Given the description of an element on the screen output the (x, y) to click on. 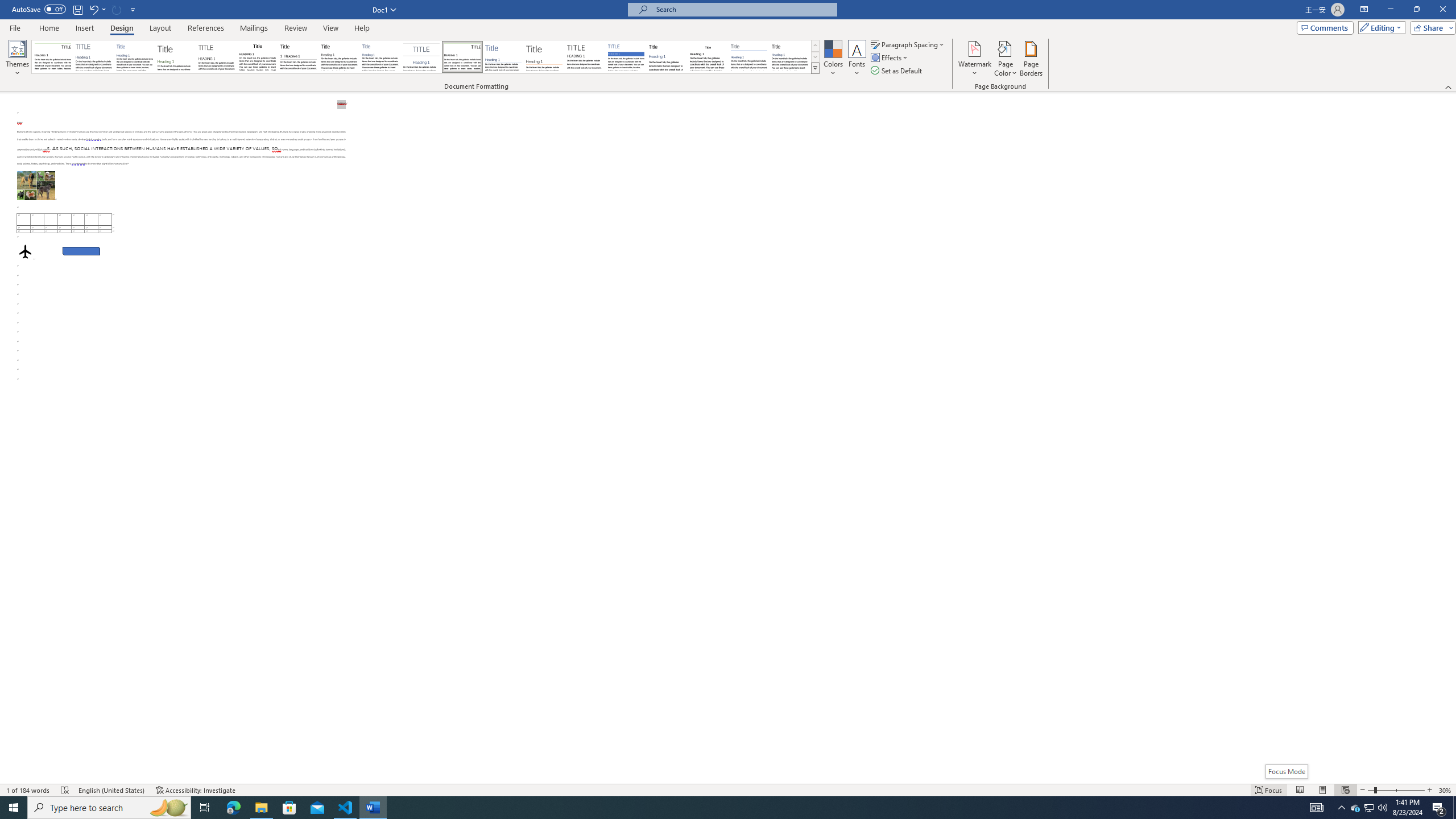
Word 2010 (749, 56)
Watermark (974, 58)
Document (52, 56)
